Given the description of an element on the screen output the (x, y) to click on. 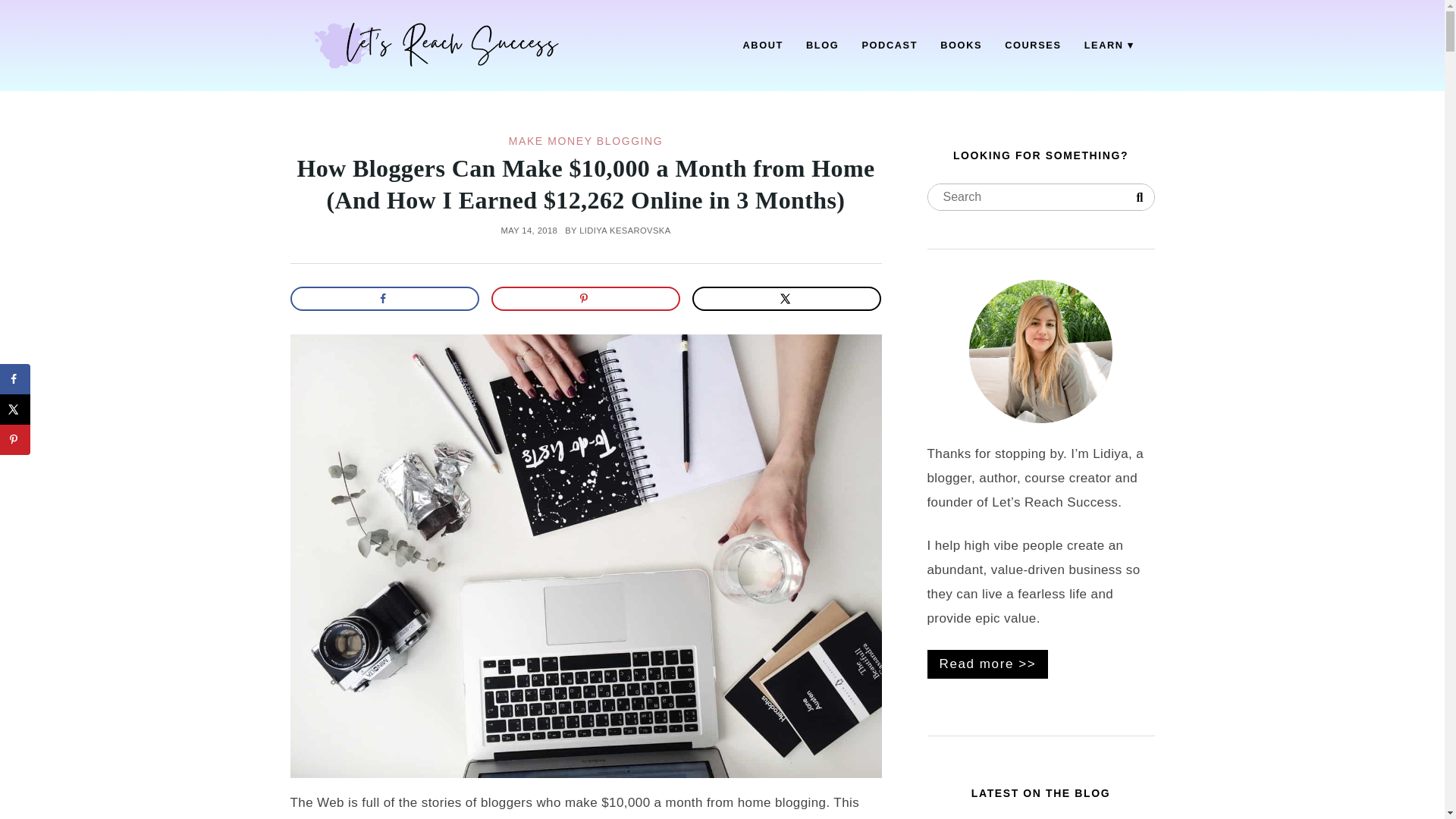
COURSES (1032, 45)
LEARN (1109, 45)
ABOUT (763, 45)
MAKE MONEY BLOGGING (585, 141)
Share on X (15, 409)
BLOG (822, 45)
Share on X (787, 298)
PODCAST (889, 45)
Save to Pinterest (586, 298)
Save to Pinterest (15, 440)
BOOKS (960, 45)
Share on Facebook (384, 298)
Share on Facebook (15, 378)
